Given the description of an element on the screen output the (x, y) to click on. 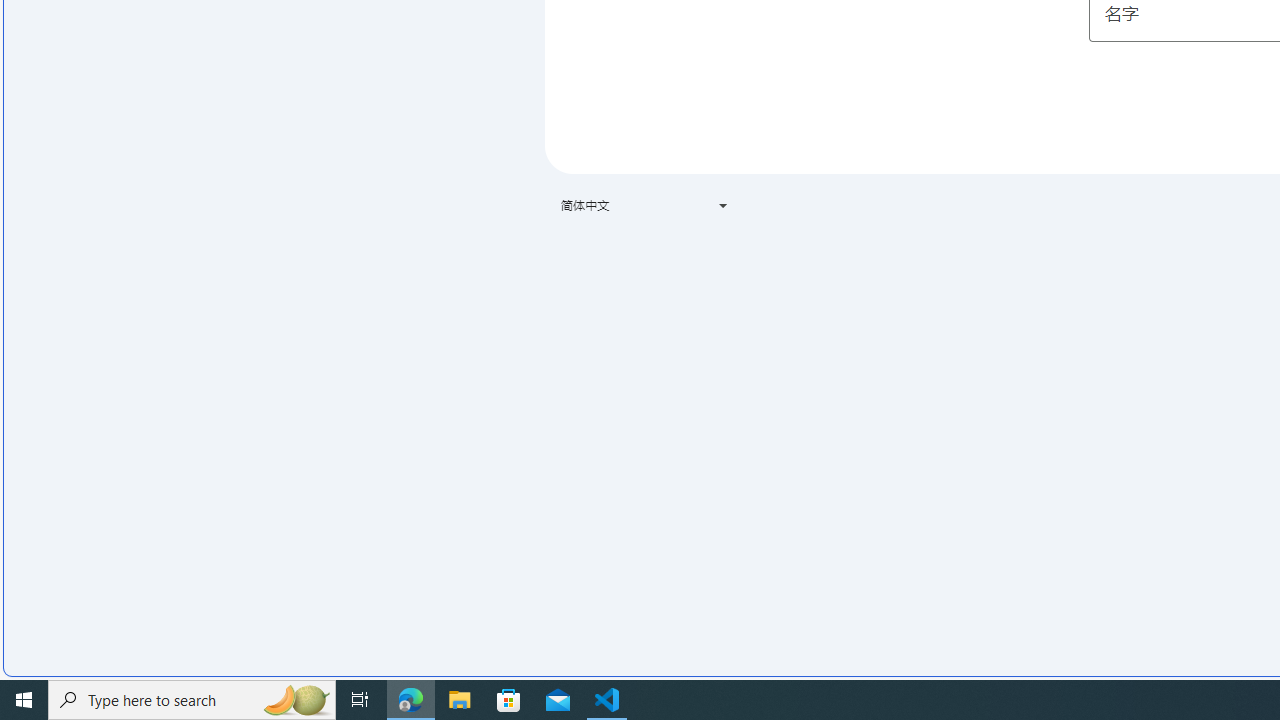
Class: VfPpkd-t08AT-Bz112c-Bd00G (723, 205)
